Given the description of an element on the screen output the (x, y) to click on. 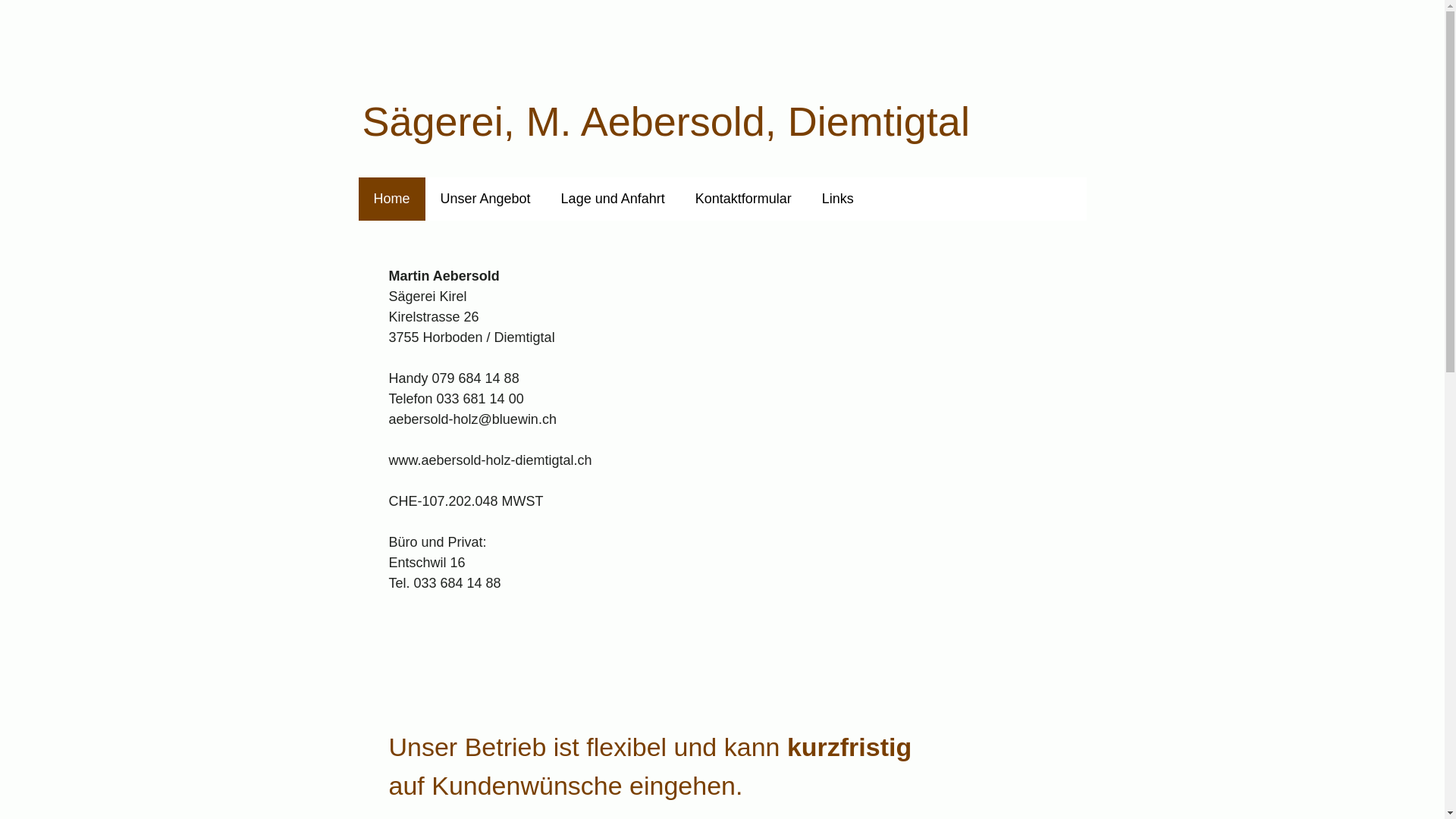
Unser Betrieb ist flexibel und kann kurzfristig        Element type: text (674, 746)
Kontaktformular Element type: text (743, 198)
Home Element type: text (390, 198)
Unser Angebot Element type: text (485, 198)
Lage und Anfahrt Element type: text (613, 198)
Links Element type: text (837, 198)
